Given the description of an element on the screen output the (x, y) to click on. 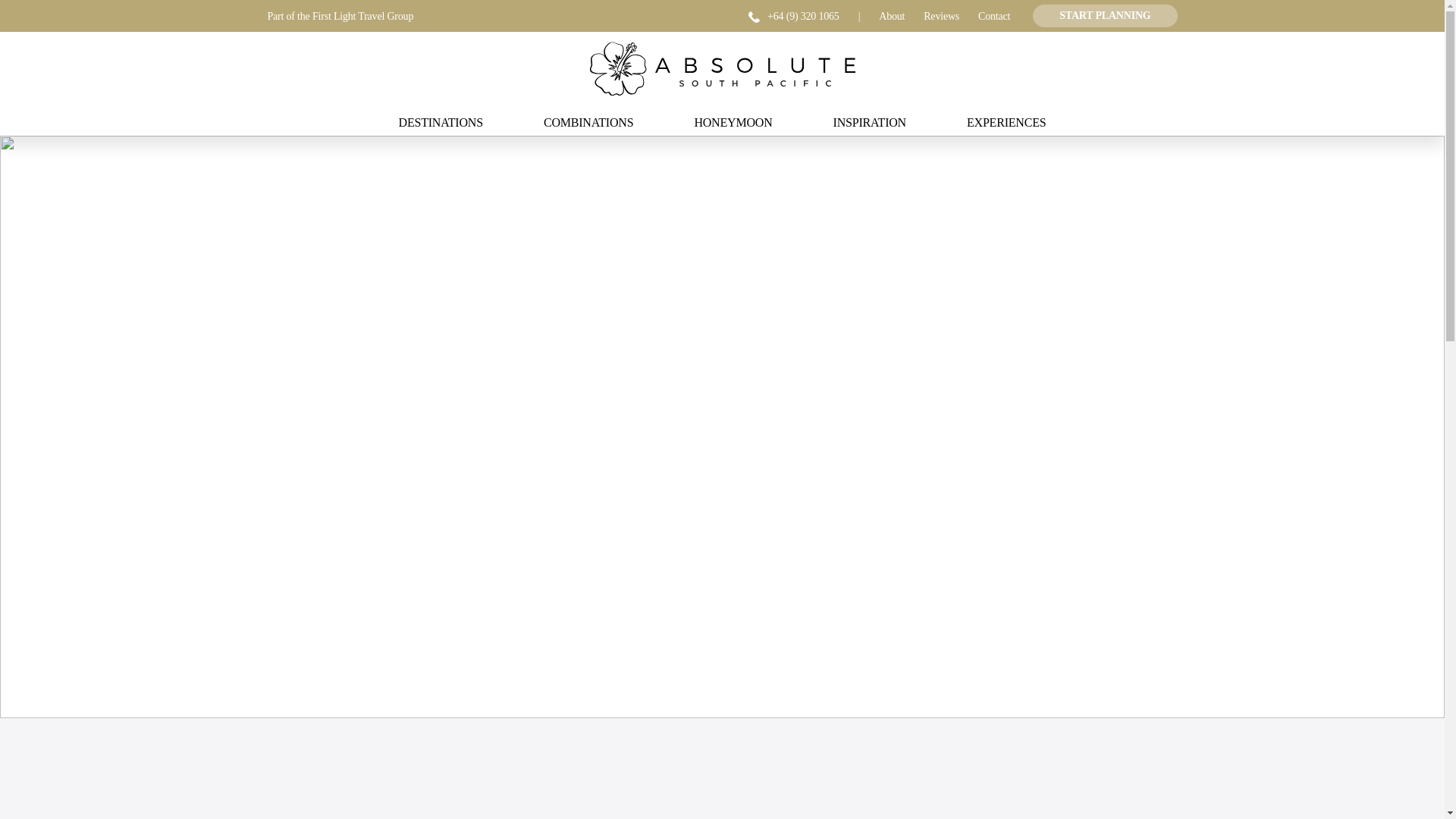
INSPIRATION (868, 122)
Contact (994, 16)
HONEYMOON (732, 122)
DESTINATIONS (440, 122)
COMBINATIONS (588, 122)
About (891, 16)
Reviews (941, 16)
START PLANNING (1104, 15)
EXPERIENCES (1005, 122)
